Given the description of an element on the screen output the (x, y) to click on. 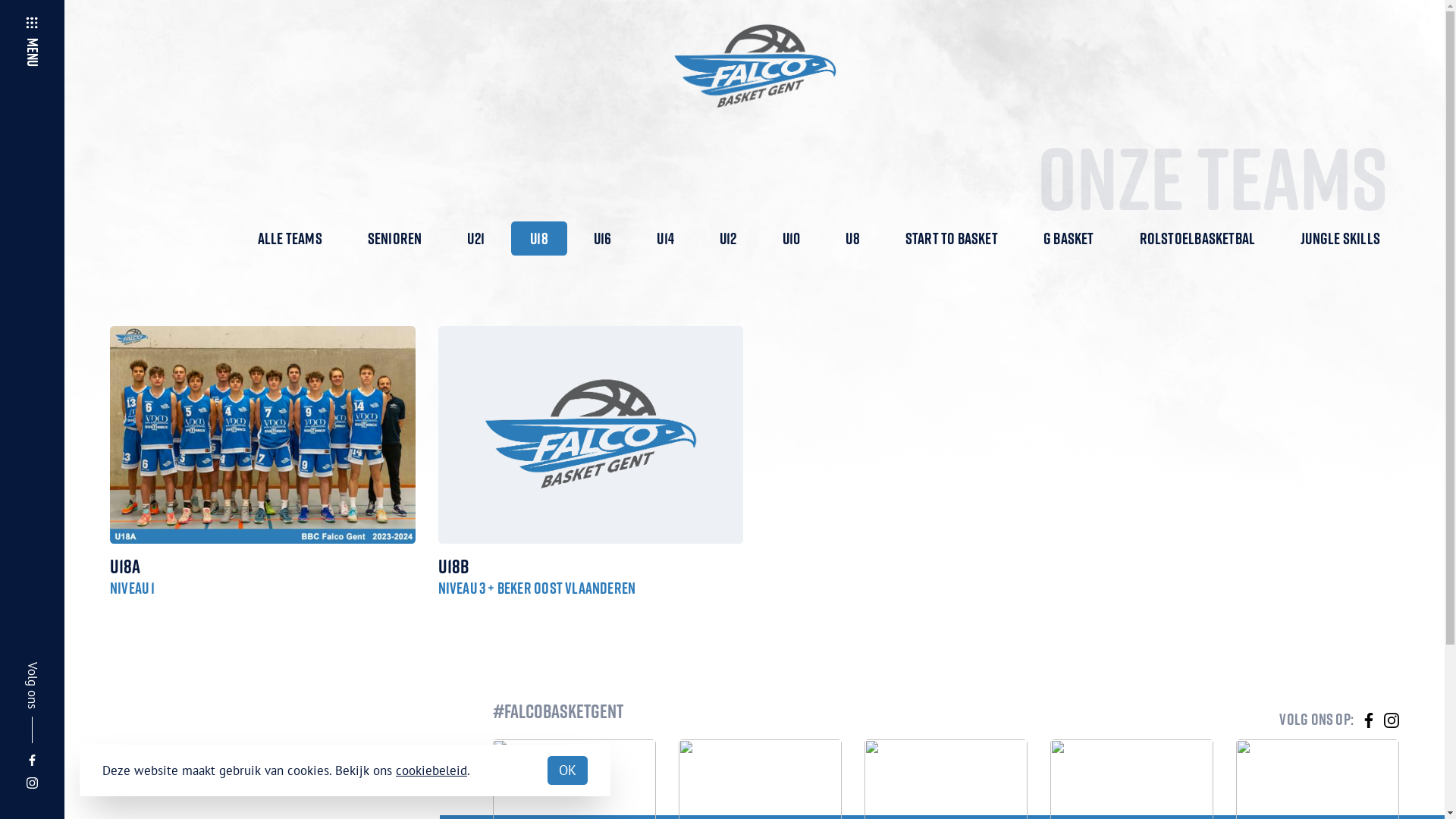
U8 Element type: text (852, 238)
U21 Element type: text (475, 238)
cookiebeleid Element type: text (431, 770)
U18A Element type: text (262, 566)
Volg ons op Instagram Element type: text (1391, 719)
Jungle Skills Element type: text (1340, 238)
U14 Element type: text (665, 238)
U10 Element type: text (791, 238)
Alle Teams Element type: text (289, 238)
OK Element type: text (567, 770)
U12 Element type: text (728, 238)
G Basket Element type: text (1068, 238)
SENIOREN Element type: text (394, 238)
U16 Element type: text (602, 238)
Volg ons op Facebook Element type: text (1368, 719)
Rolstoelbasketbal Element type: text (1197, 238)
U18B Element type: text (590, 566)
MENU Element type: text (48, 24)
Start to basket Element type: text (951, 238)
U18 Element type: text (539, 238)
